Given the description of an element on the screen output the (x, y) to click on. 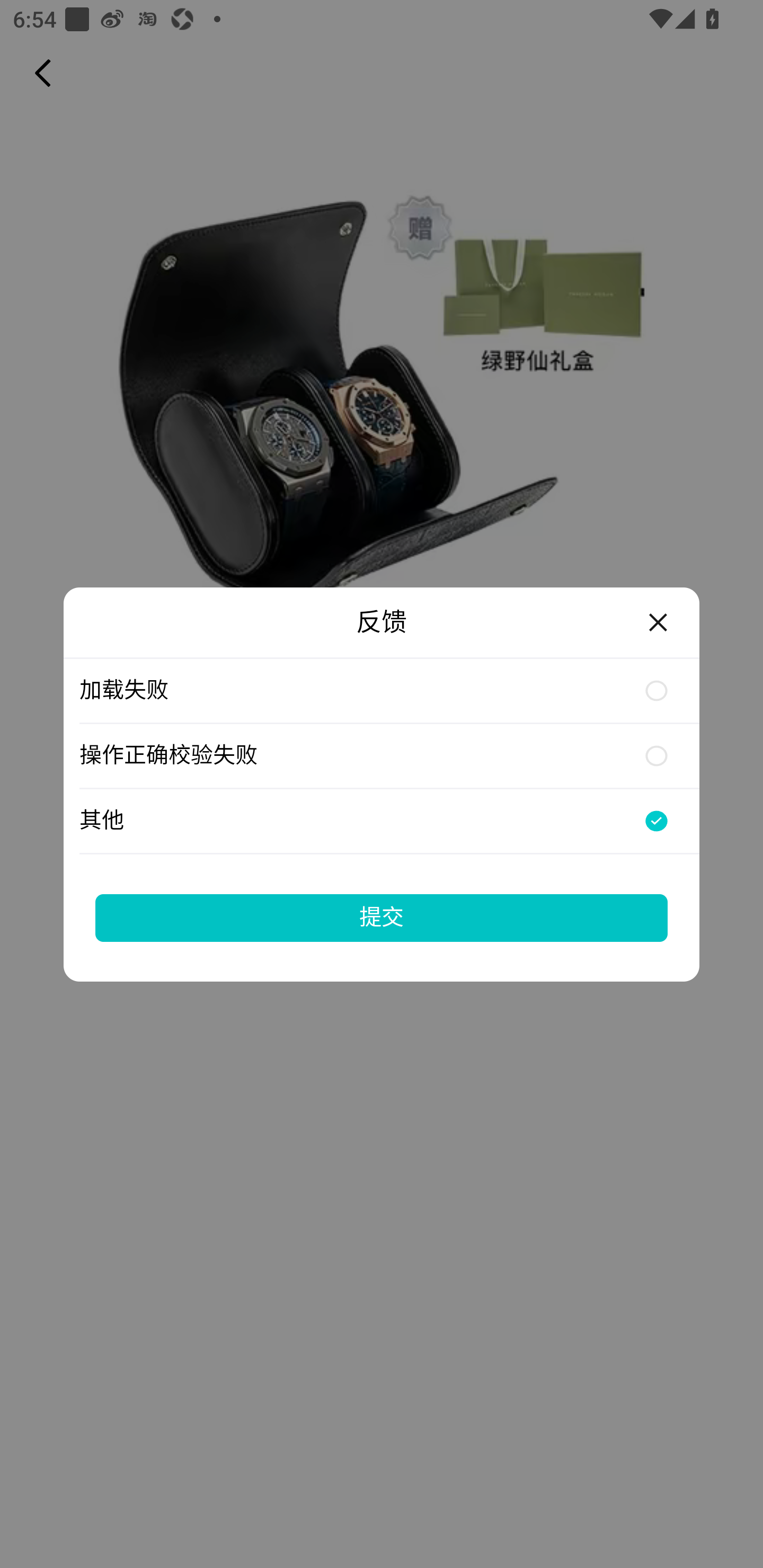
提交 (381, 917)
